Given the description of an element on the screen output the (x, y) to click on. 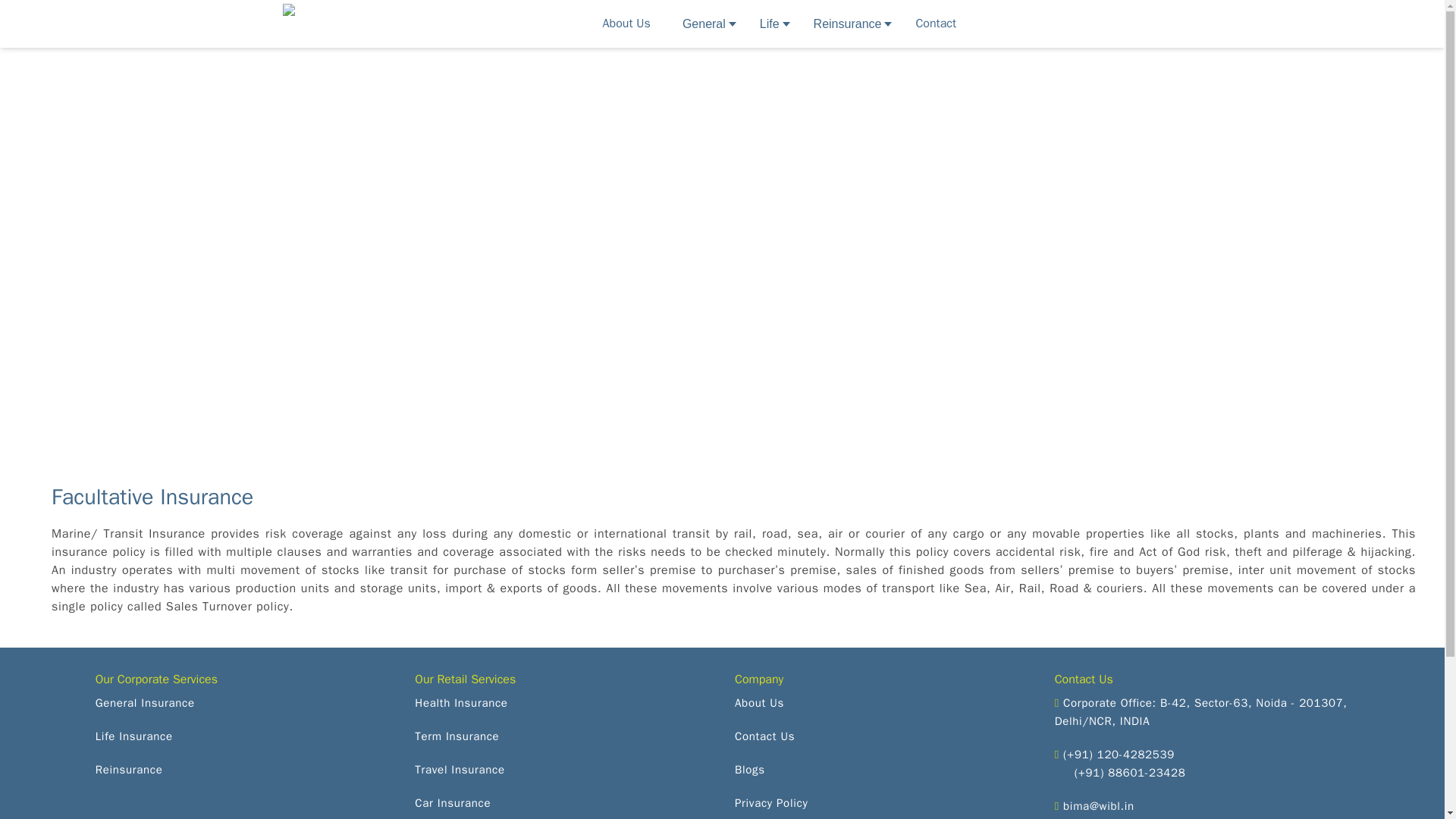
General (704, 23)
General (703, 23)
About Us (626, 23)
